Given the description of an element on the screen output the (x, y) to click on. 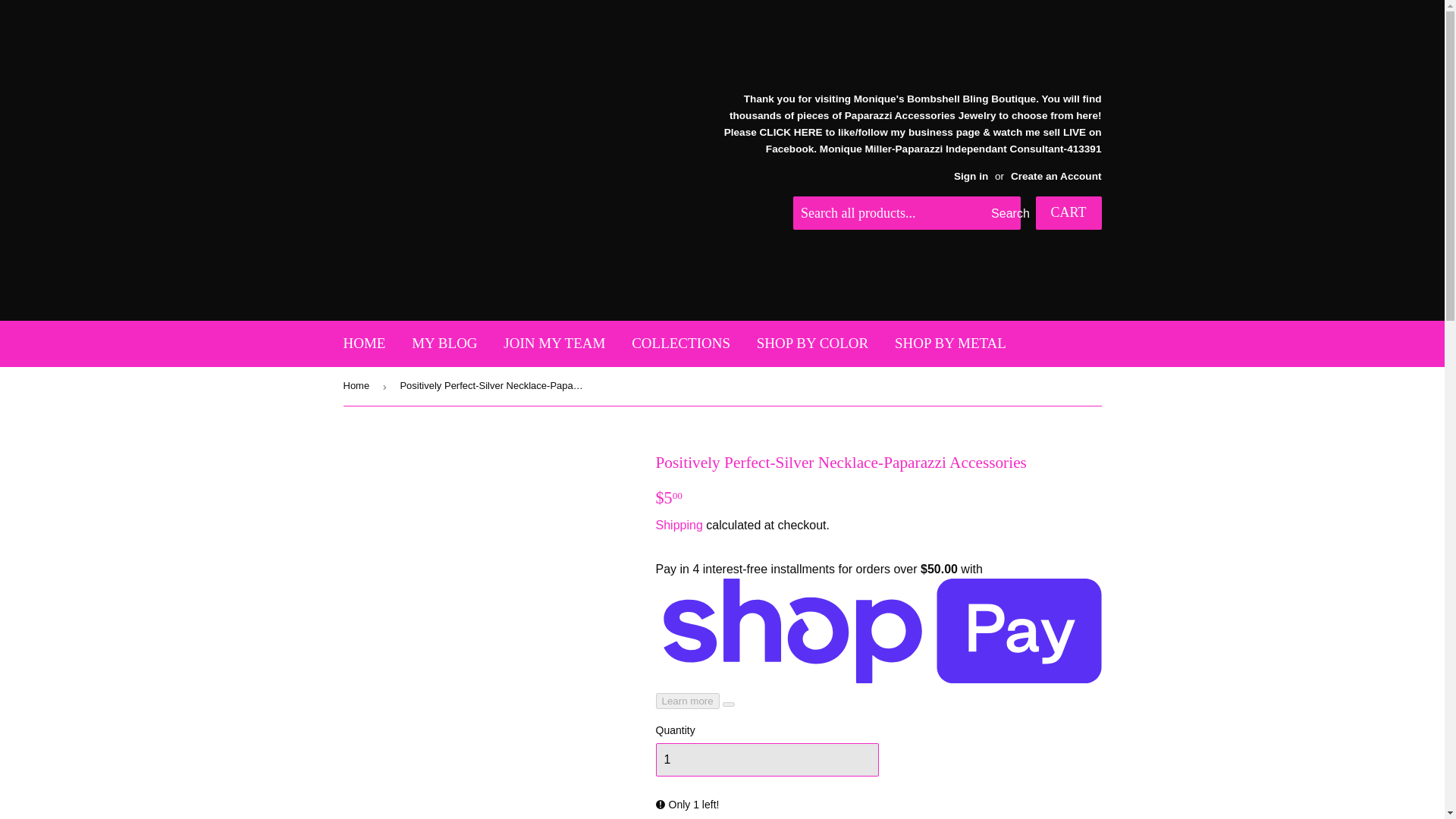
Create an Account (1056, 175)
Sign in (970, 175)
1 (766, 759)
CART (1068, 213)
Search (1003, 214)
